Given the description of an element on the screen output the (x, y) to click on. 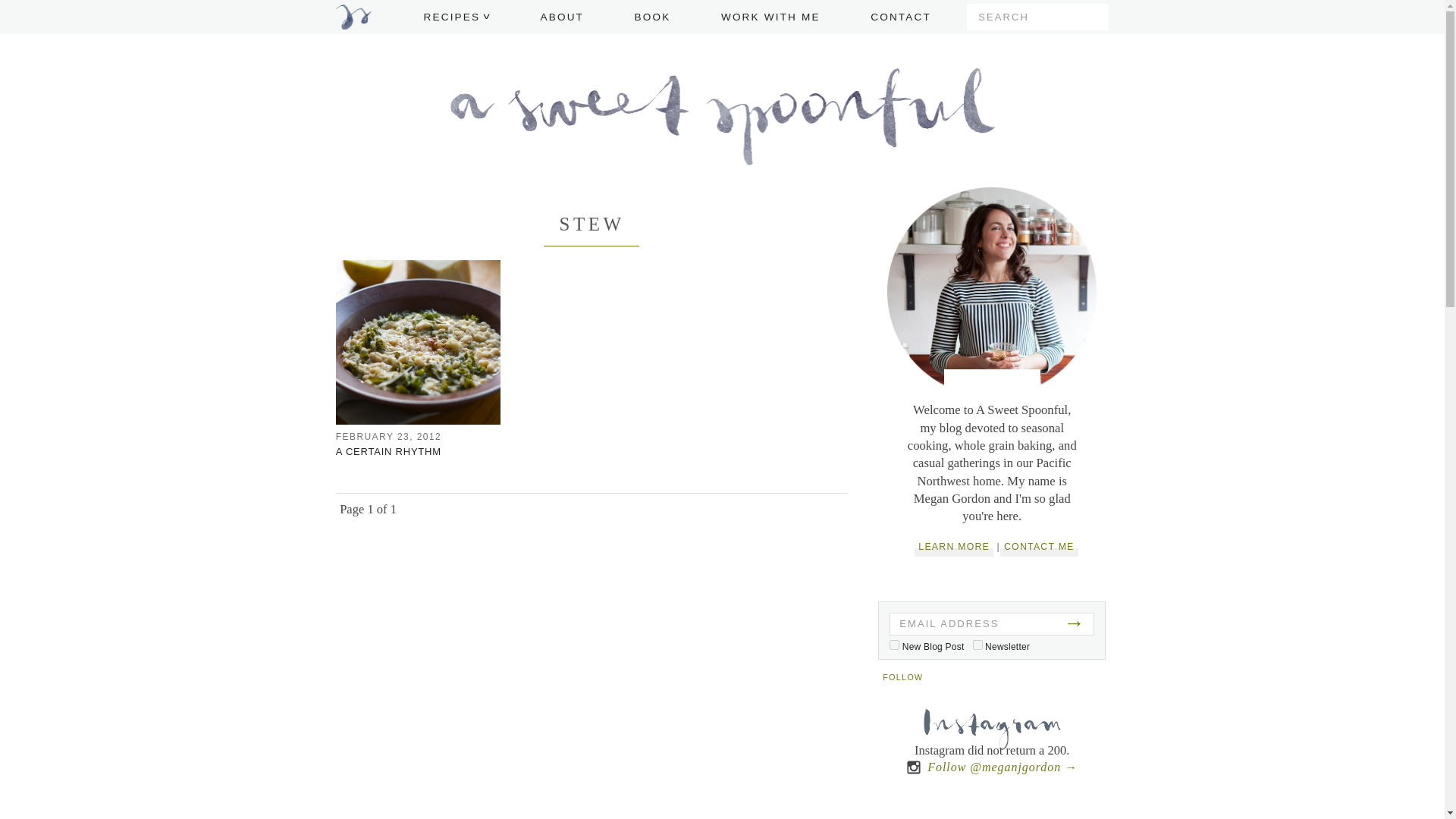
ABOUT (561, 17)
RSS Facebook (1003, 678)
About (992, 384)
Subscribe (991, 586)
Twitter Facebook (1034, 678)
CONTACT (900, 17)
Search (1094, 17)
Submit (1094, 16)
ee850515ba (977, 644)
CONTACT ME (1039, 546)
